Given the description of an element on the screen output the (x, y) to click on. 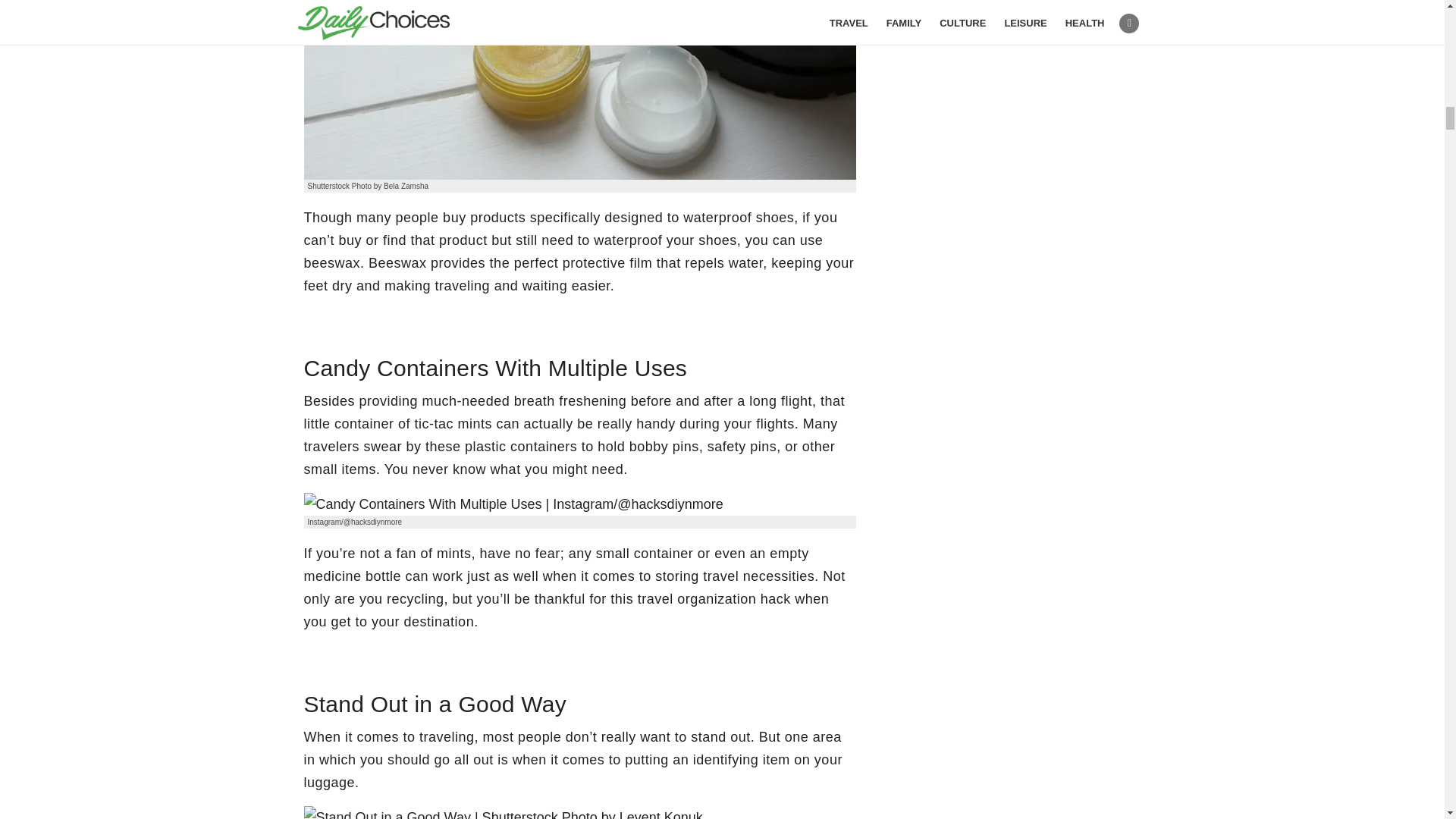
Candy Containers With Multiple Uses (512, 504)
Waterproof Shoes for Unexpected Rain (579, 89)
Stand Out in a Good Way (501, 812)
